Given the description of an element on the screen output the (x, y) to click on. 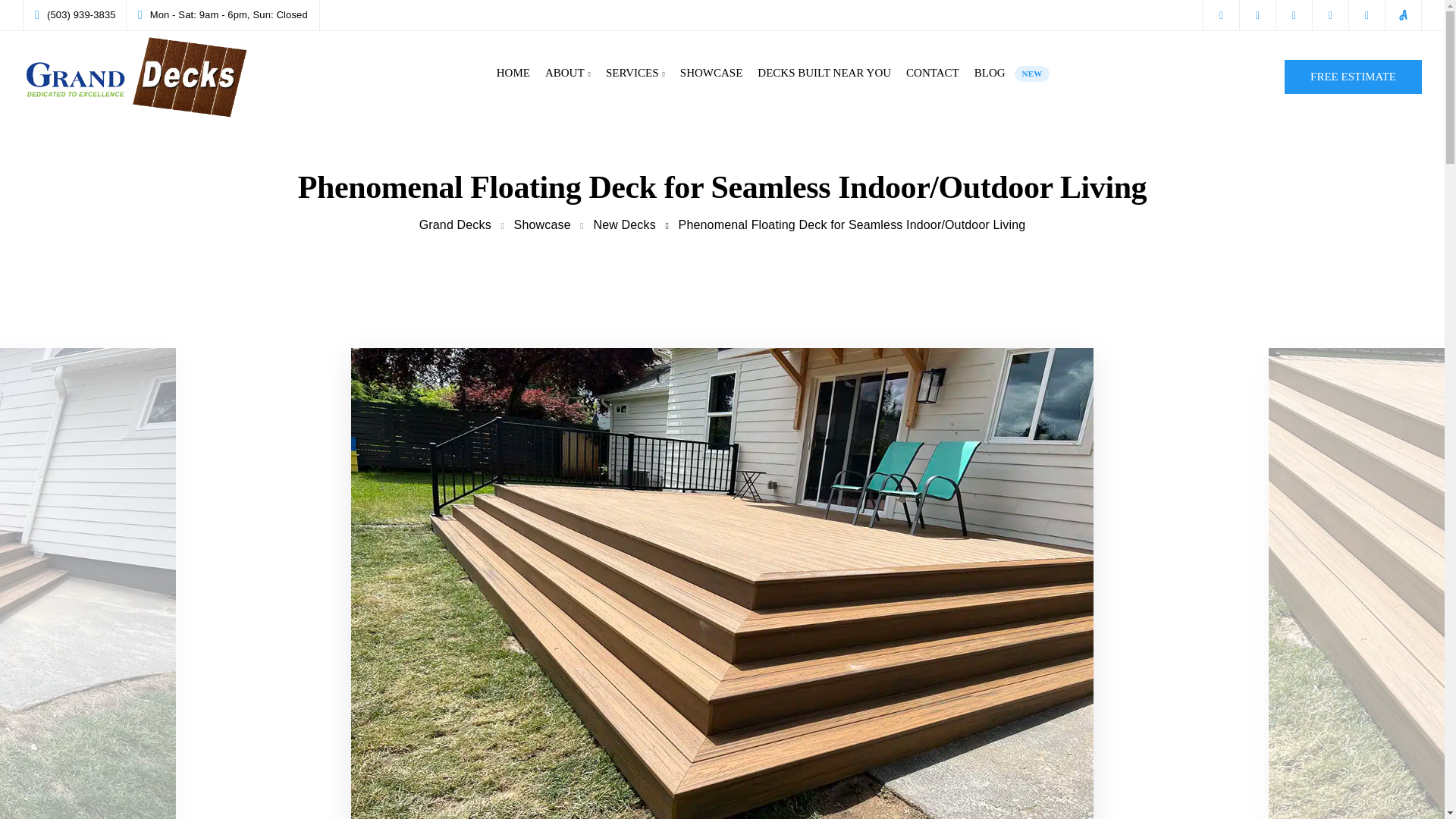
DECKS BUILT NEAR YOU (823, 73)
ABOUT (567, 73)
HOME (513, 73)
Go to the New Decks Showcase Type archives. (623, 224)
floating deck design 2 (722, 594)
SERVICES (635, 73)
FREE ESTIMATE (1353, 75)
Go to Showcase. (1012, 73)
New Decks (541, 224)
Grand Decks (623, 224)
Go to Grand Decks. (455, 224)
SHOWCASE (455, 224)
CONTACT (711, 73)
Showcase (932, 73)
